Given the description of an element on the screen output the (x, y) to click on. 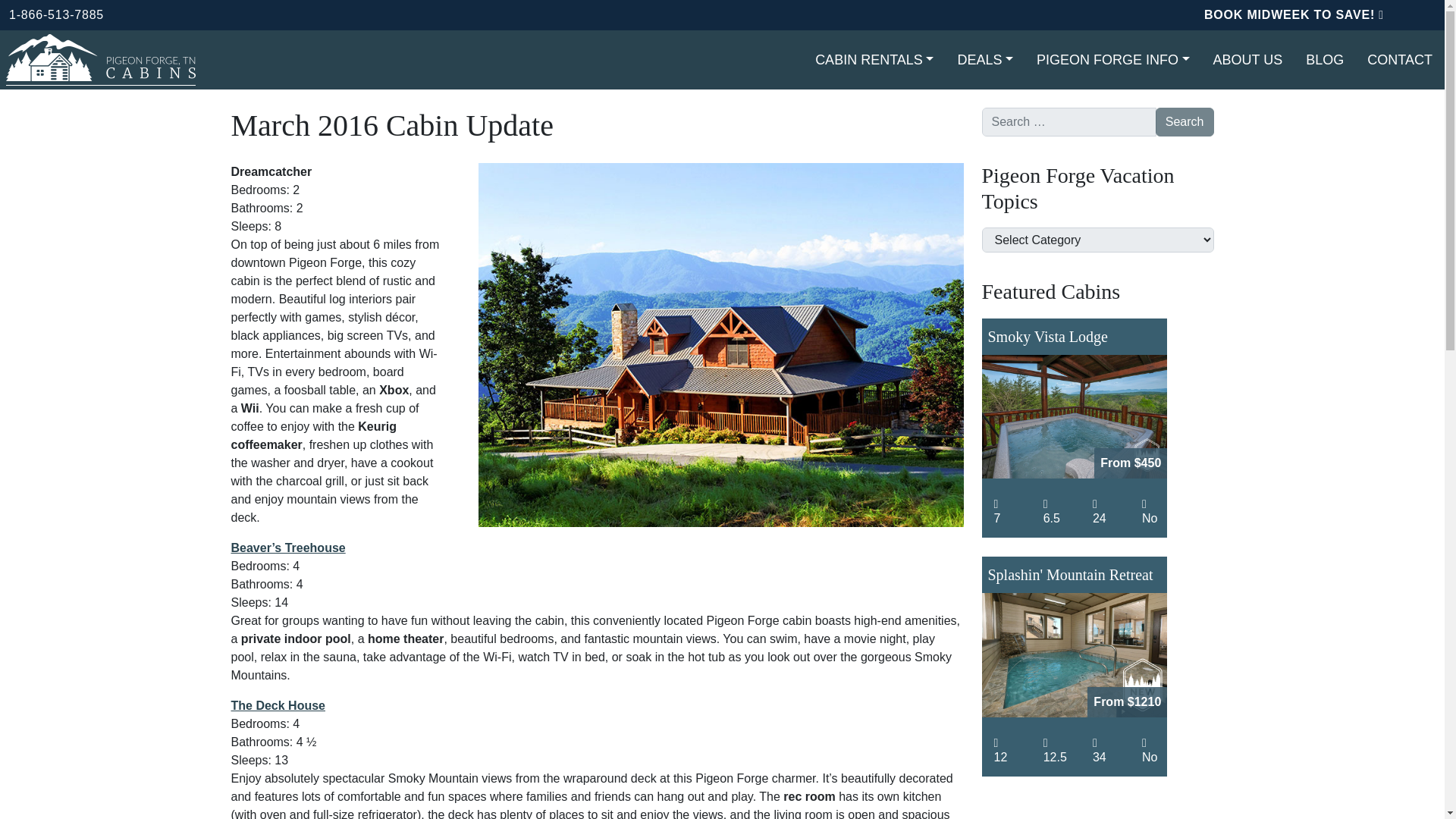
Search (1185, 121)
ABOUT US (1247, 60)
DEALS (984, 60)
Cabin Rentals (874, 60)
The Deck House (277, 705)
Pigeon Forge Info (1112, 60)
CONTACT (1399, 60)
BOOK MIDWEEK TO SAVE! (1294, 14)
Deals (984, 60)
PIGEON FORGE INFO (1112, 60)
BLOG (1324, 60)
Search (1185, 121)
1-866-513-7885 (55, 14)
CABIN RENTALS (874, 60)
